Given the description of an element on the screen output the (x, y) to click on. 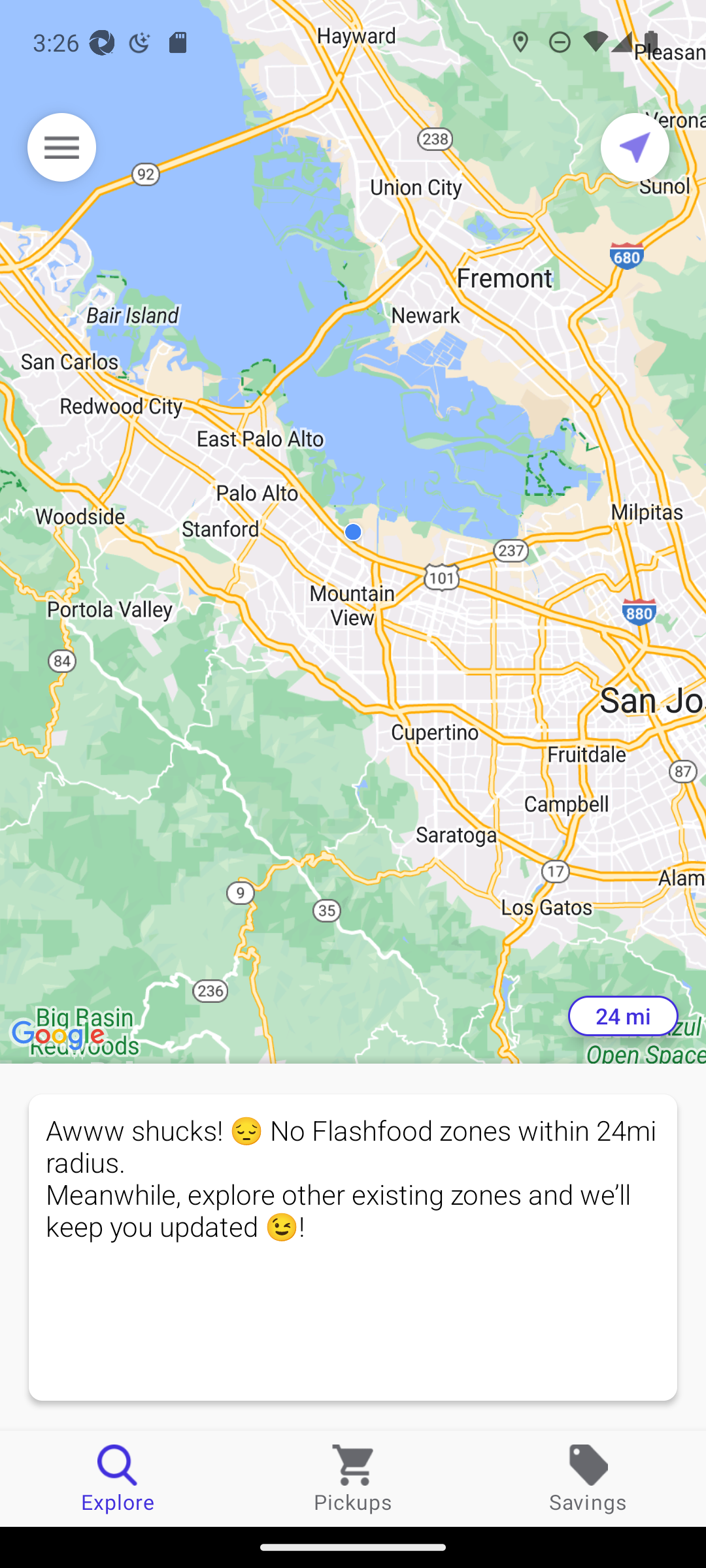
Menu (61, 146)
Current location (634, 146)
24 mi (623, 1015)
Pickups (352, 1478)
Savings (588, 1478)
